Given the description of an element on the screen output the (x, y) to click on. 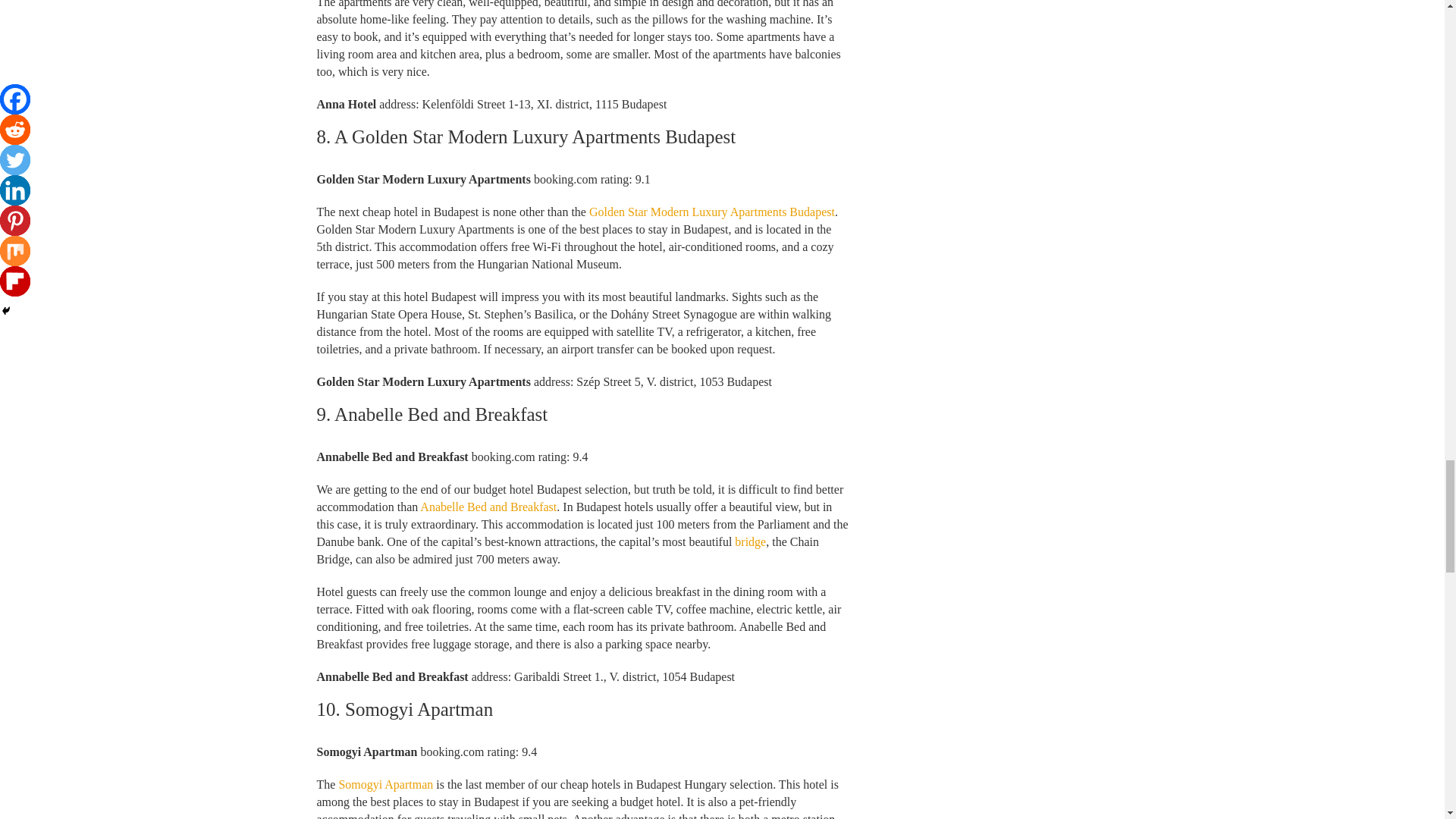
Anabelle Bed and Breakfast (488, 506)
Golden Star Modern Luxury Apartments Budapest (711, 211)
Somogyi Apartman (384, 784)
bridge (750, 541)
